Given the description of an element on the screen output the (x, y) to click on. 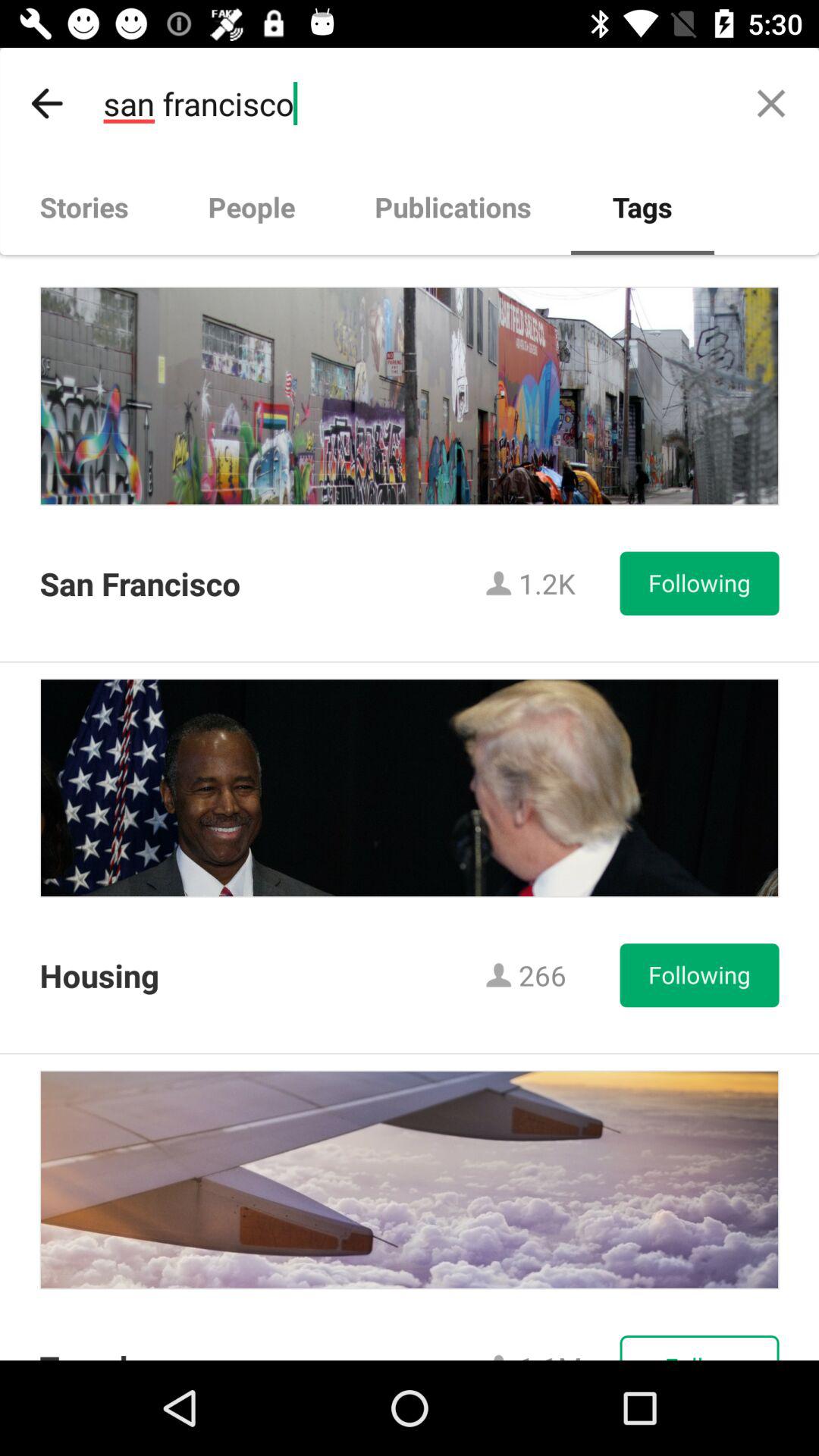
tap item to the left of san francisco (47, 103)
